Given the description of an element on the screen output the (x, y) to click on. 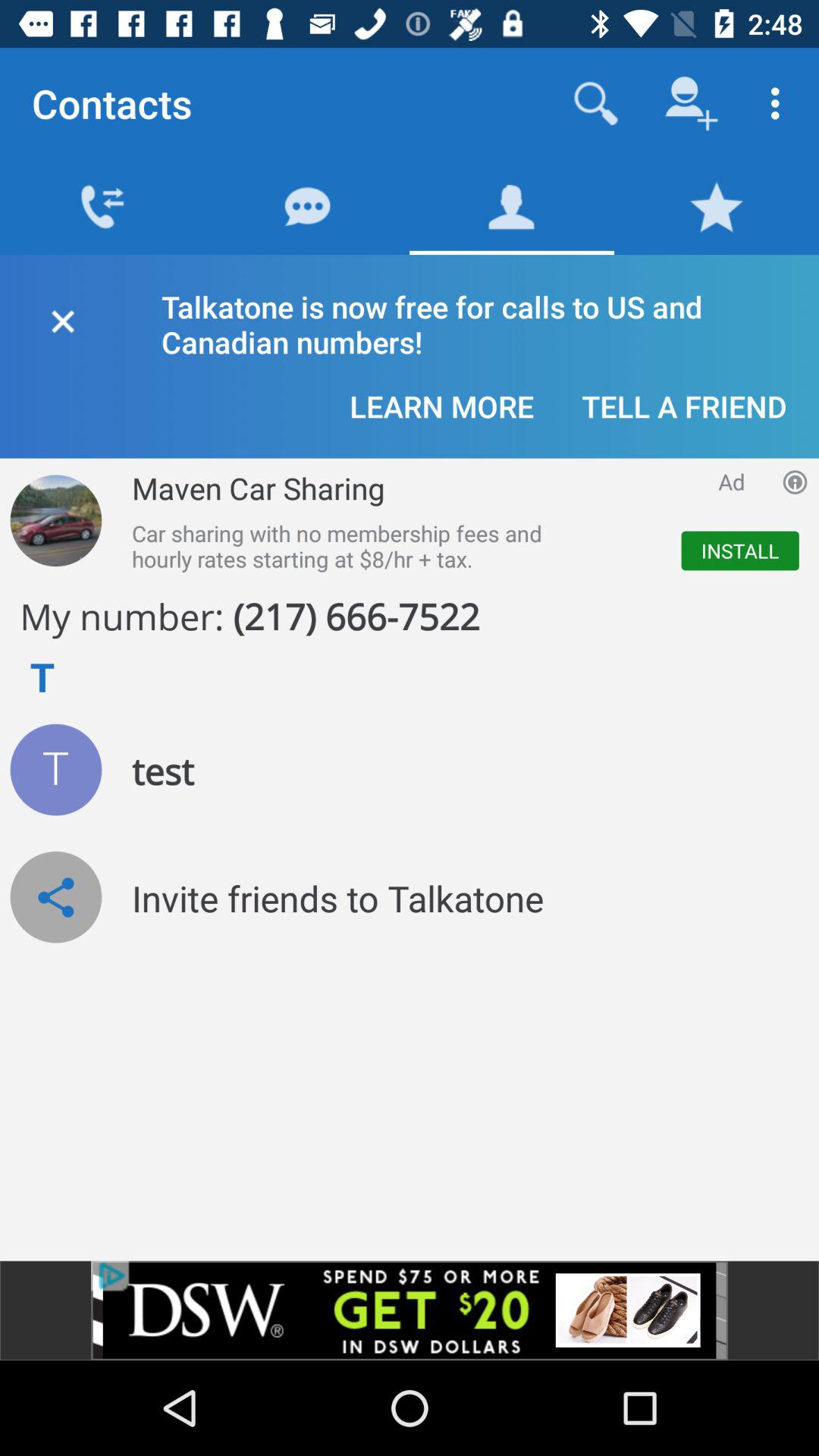
exit banner (62, 318)
